Given the description of an element on the screen output the (x, y) to click on. 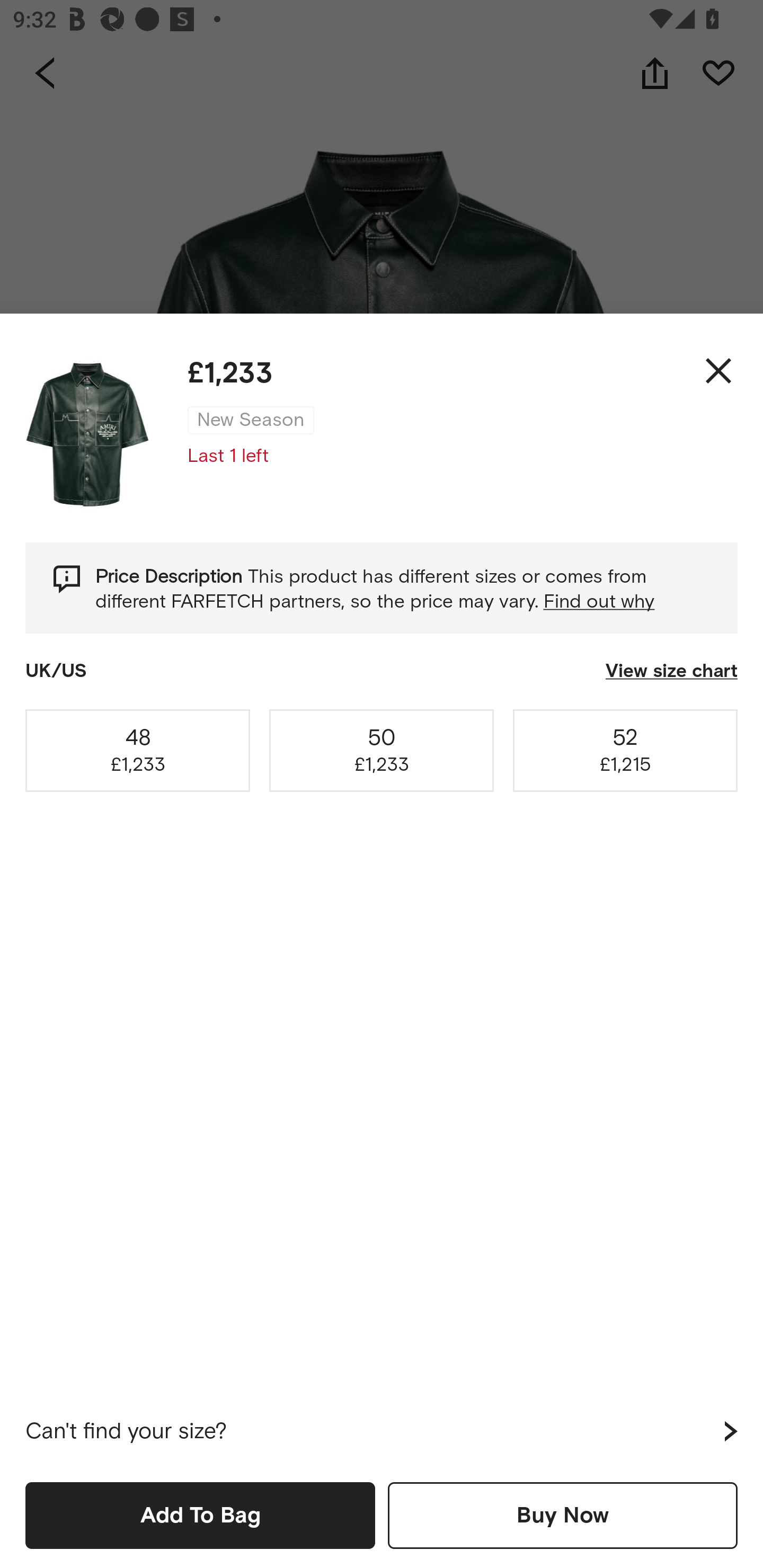
48 £1,233 (137, 749)
50 £1,233 (381, 749)
52 £1,215 (624, 749)
Can't find your size? (381, 1431)
Add To Bag (200, 1515)
Buy Now (562, 1515)
